Given the description of an element on the screen output the (x, y) to click on. 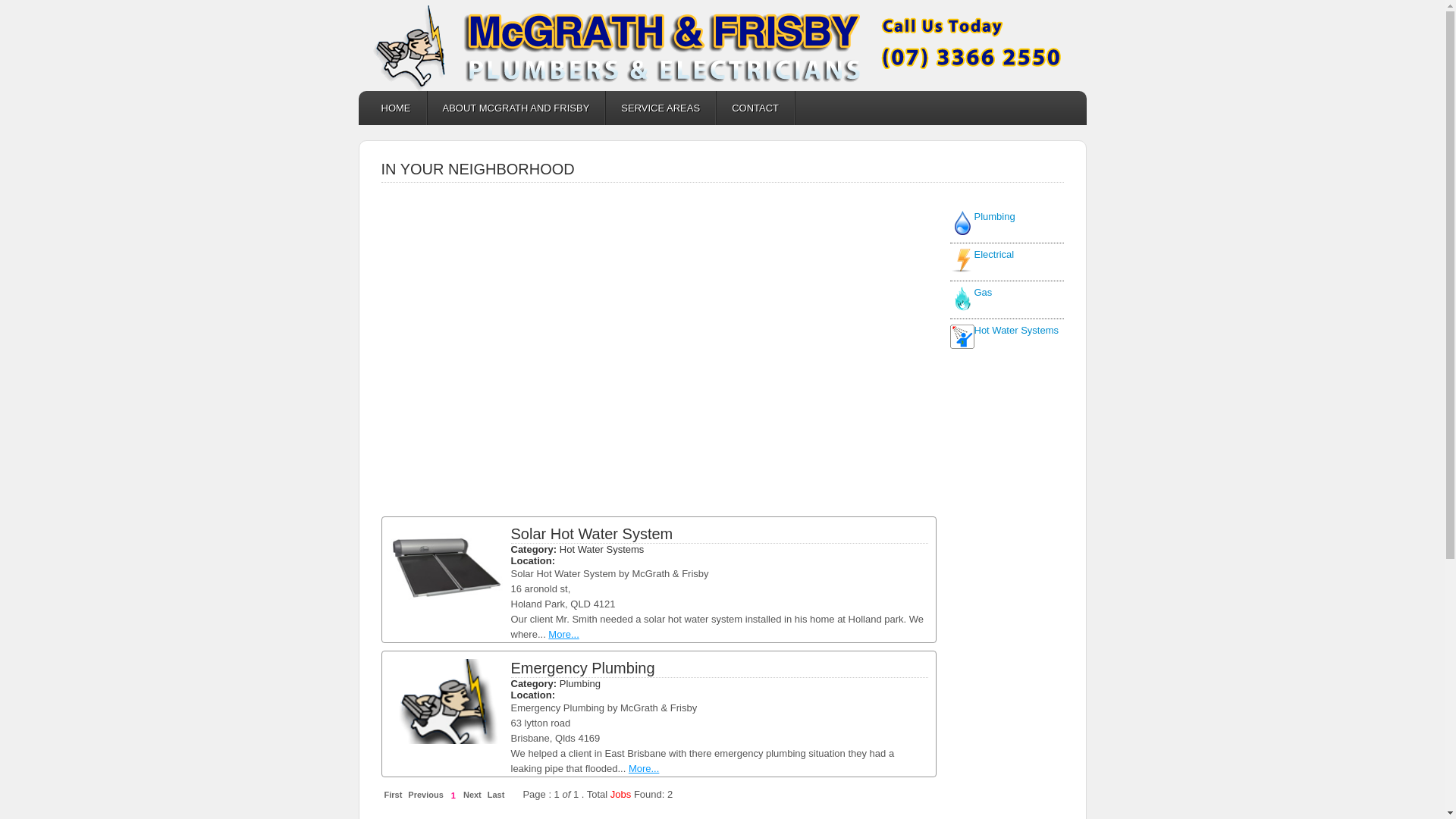
More... Element type: text (563, 634)
Electrical Element type: text (1006, 261)
MCGRATH & FRISBY Element type: text (721, 45)
Emergency Plumbing Element type: text (583, 667)
SERVICE AREAS Element type: text (660, 108)
ABOUT MCGRATH AND FRISBY Element type: text (516, 108)
Plumbing Element type: text (1006, 223)
More... Element type: text (643, 768)
Hot Water Systems Element type: text (1006, 337)
CONTACT Element type: text (755, 108)
Solar Hot Water System Element type: text (592, 533)
Gas Element type: text (1006, 299)
HOME Element type: text (395, 108)
